Given the description of an element on the screen output the (x, y) to click on. 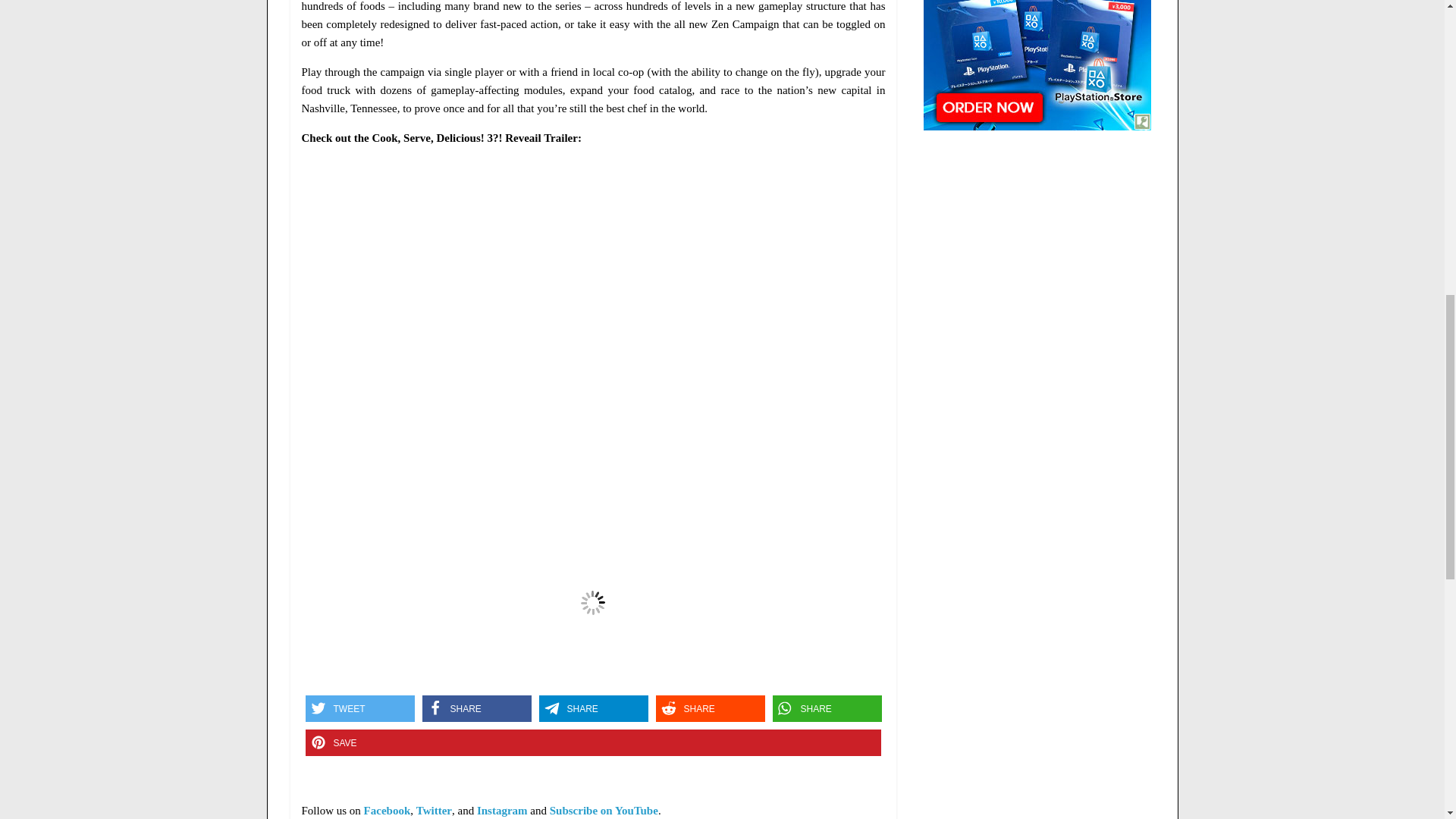
Pin it on Pinterest (592, 742)
Share on Whatsapp (825, 708)
Share on Facebook (476, 708)
Share on Telegram (592, 708)
Share on Reddit (709, 708)
Share on Twitter (358, 708)
